Given the description of an element on the screen output the (x, y) to click on. 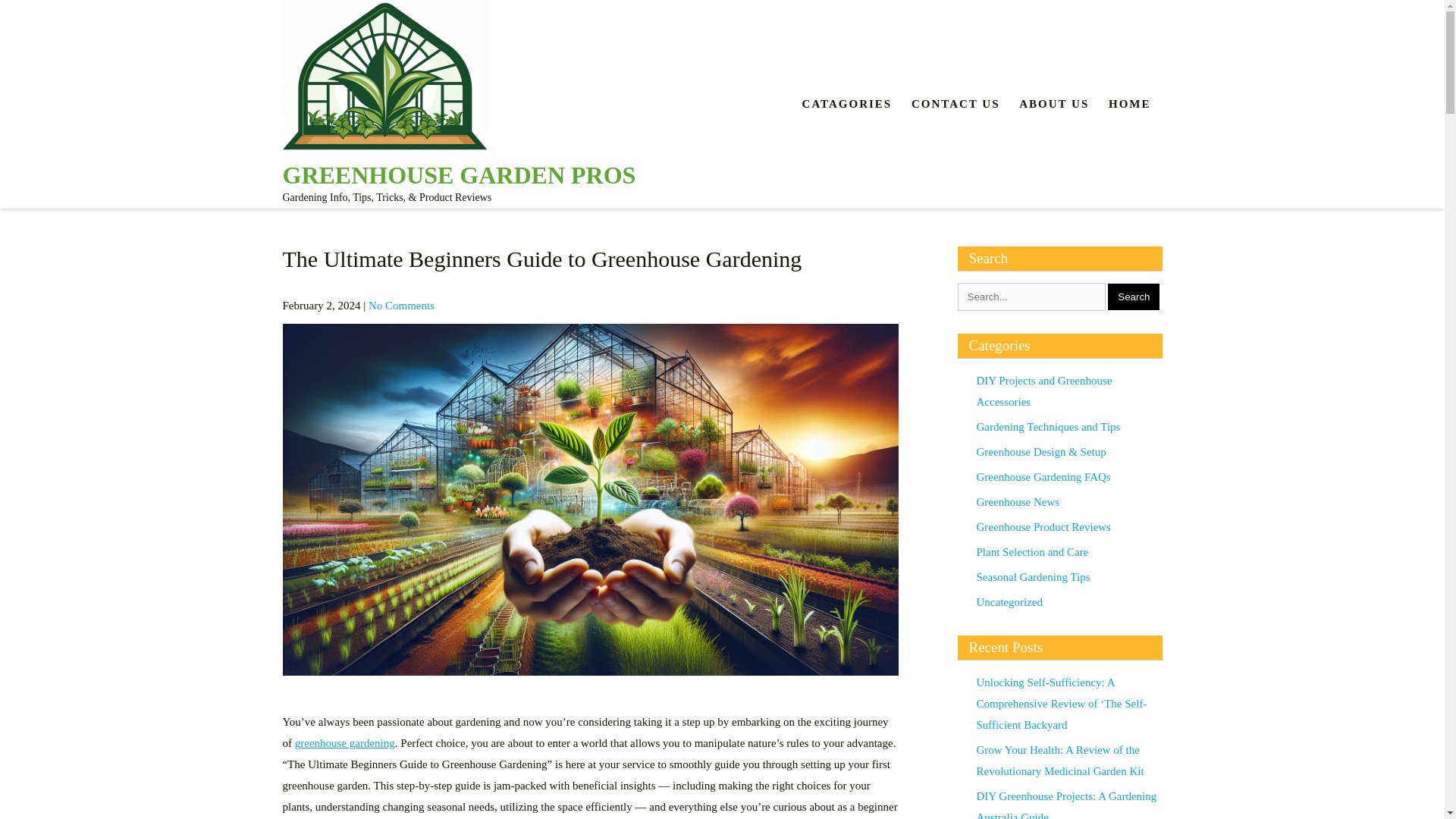
GREENHOUSE GARDEN PROS (458, 175)
CONTACT US (955, 103)
Search (1133, 296)
ABOUT US (1053, 103)
Search (1133, 296)
greenhouse gardening (344, 743)
CATAGORIES (846, 103)
No Comments (400, 305)
